Given the description of an element on the screen output the (x, y) to click on. 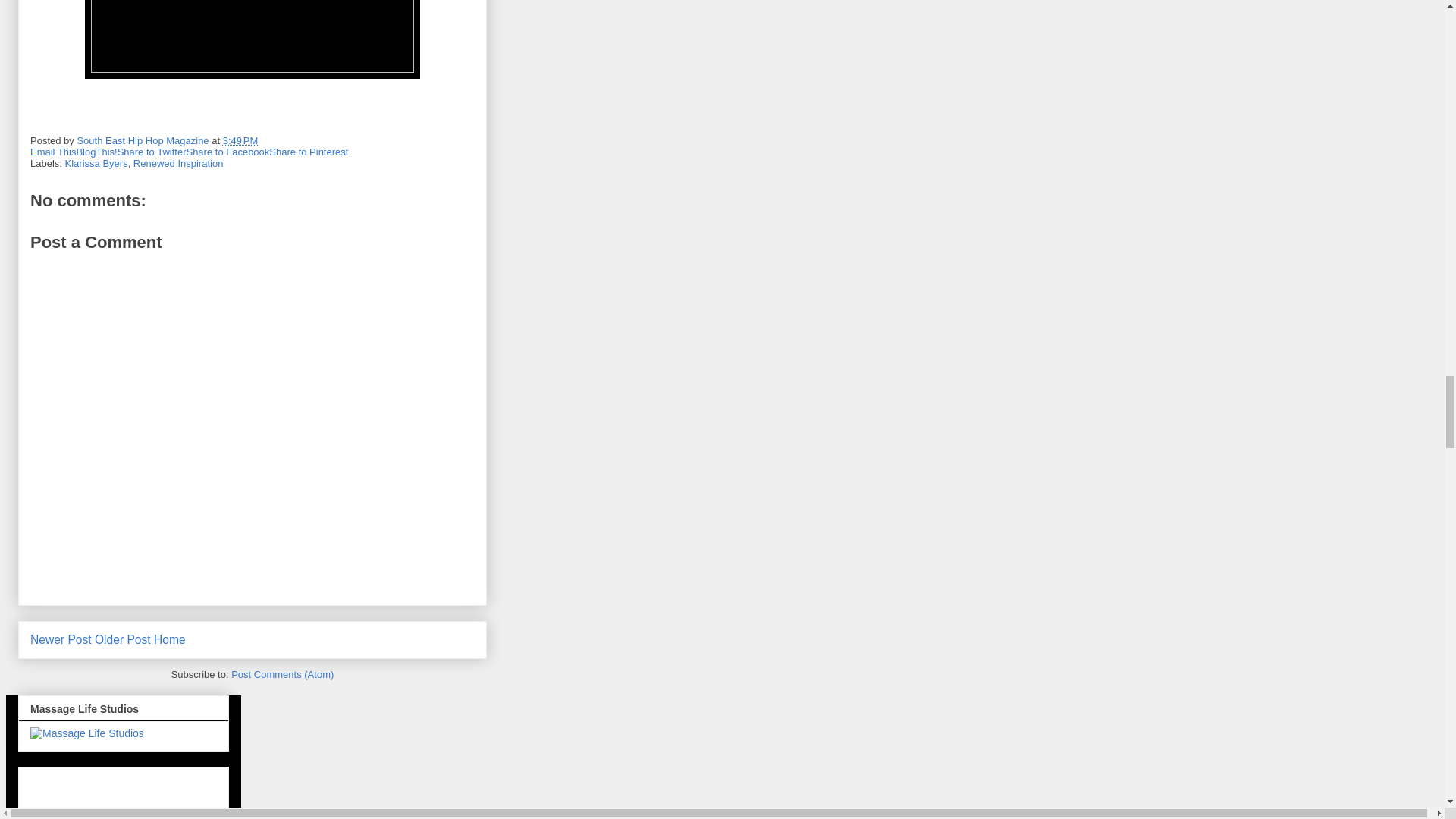
Older Post (122, 639)
Share to Twitter (151, 152)
Share to Pinterest (308, 152)
Newer Post (60, 639)
Renewed Inspiration (178, 163)
Share to Twitter (151, 152)
Klarissa Byers (96, 163)
Share to Facebook (227, 152)
permanent link (240, 140)
author profile (144, 140)
BlogThis! (95, 152)
Share to Pinterest (308, 152)
Newer Post (60, 639)
Share to Facebook (227, 152)
